Given the description of an element on the screen output the (x, y) to click on. 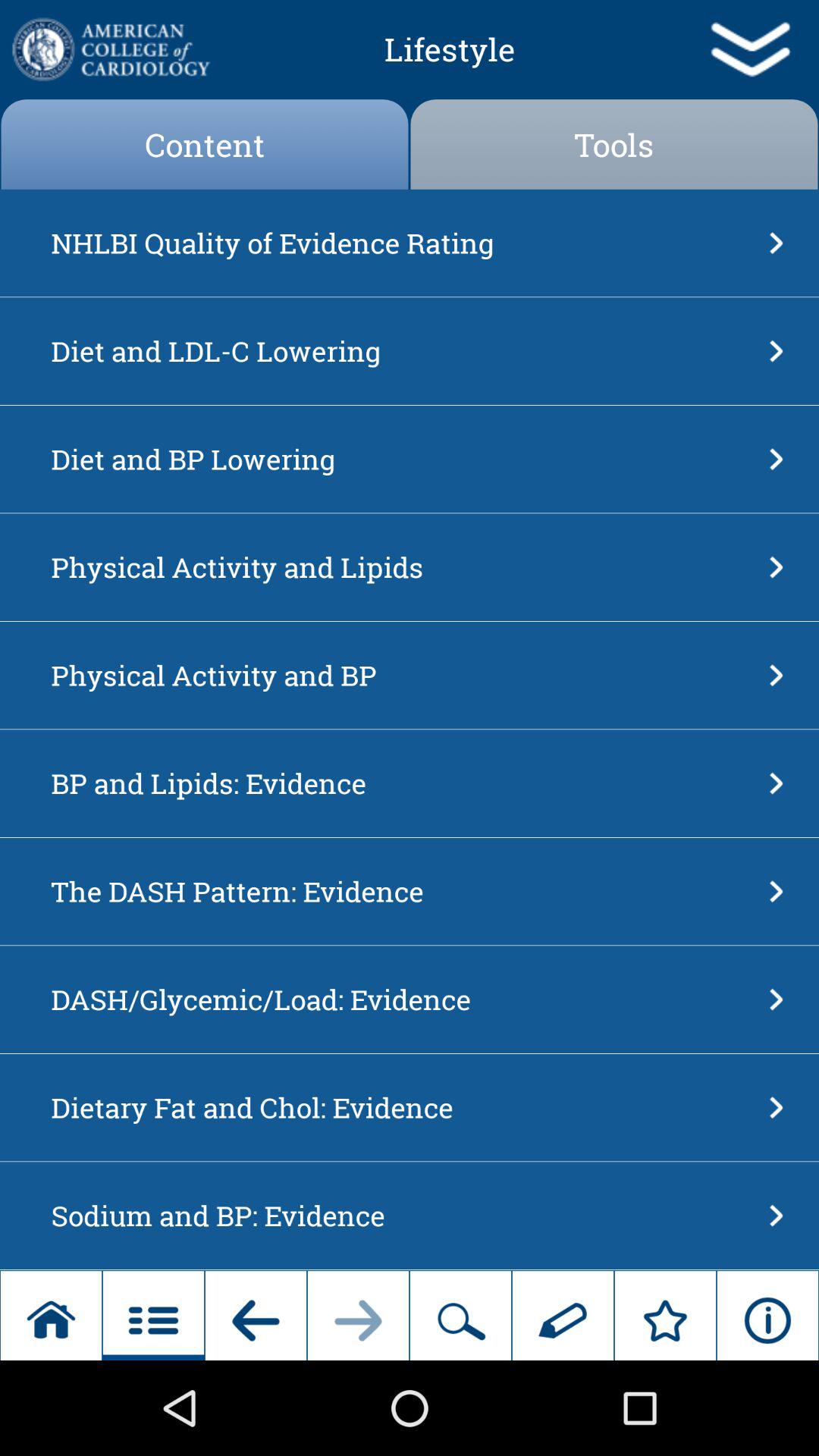
turn off the content (204, 144)
